Given the description of an element on the screen output the (x, y) to click on. 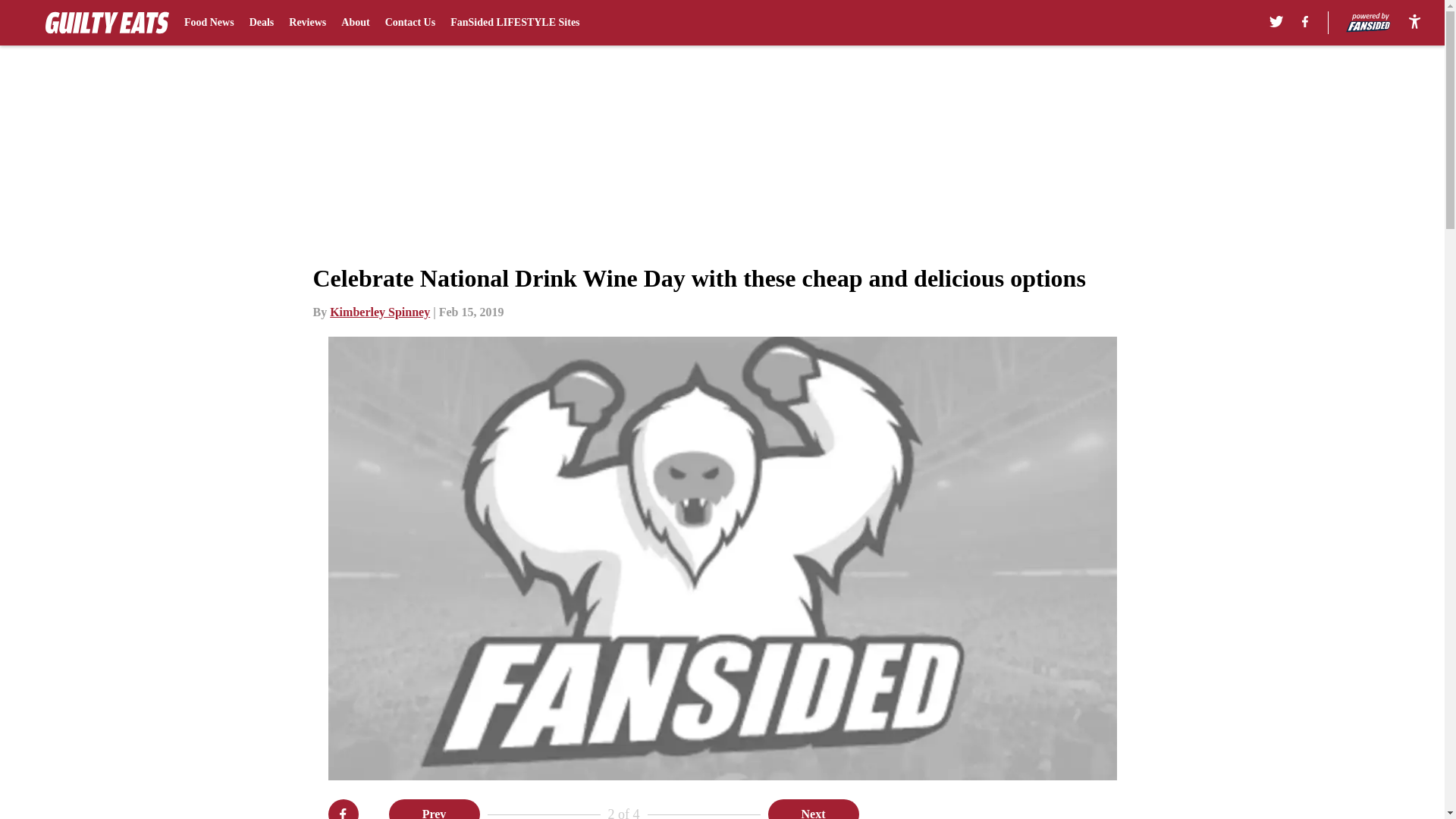
About (354, 22)
Food News (209, 22)
Prev (433, 809)
Contact Us (410, 22)
Deals (261, 22)
FanSided LIFESTYLE Sites (514, 22)
Next (813, 809)
Kimberley Spinney (379, 311)
Reviews (307, 22)
